Given the description of an element on the screen output the (x, y) to click on. 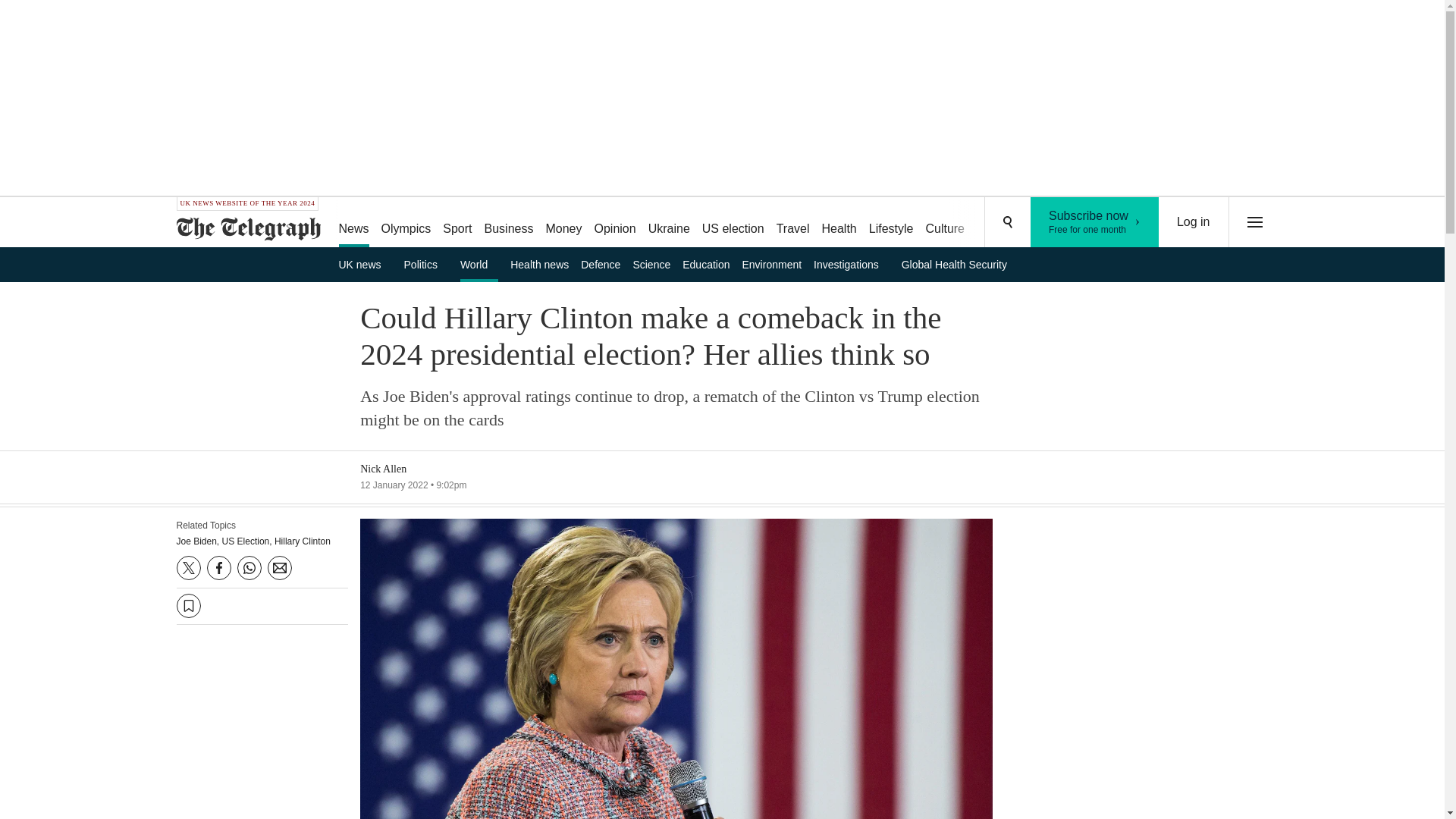
US election (732, 223)
Lifestyle (891, 223)
Opinion (615, 223)
Business (509, 223)
Log in (1193, 222)
UK news (364, 264)
Health (838, 223)
Politics (425, 264)
Travel (792, 223)
Culture (944, 223)
